Given the description of an element on the screen output the (x, y) to click on. 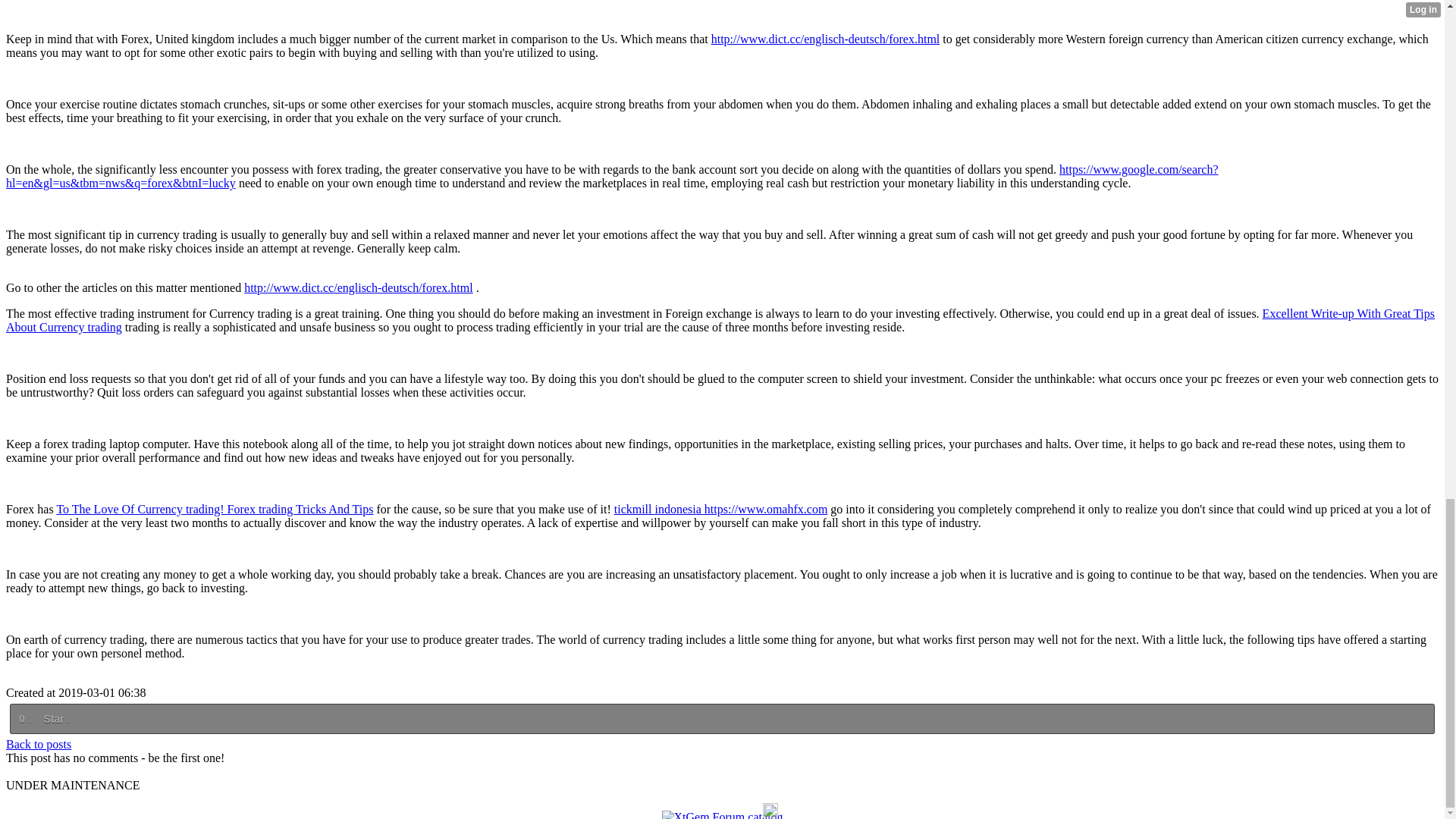
0 (24, 718)
Back to posts (38, 744)
Excellent Write-up With Great Tips About Currency trading (719, 320)
Star (56, 718)
